Given the description of an element on the screen output the (x, y) to click on. 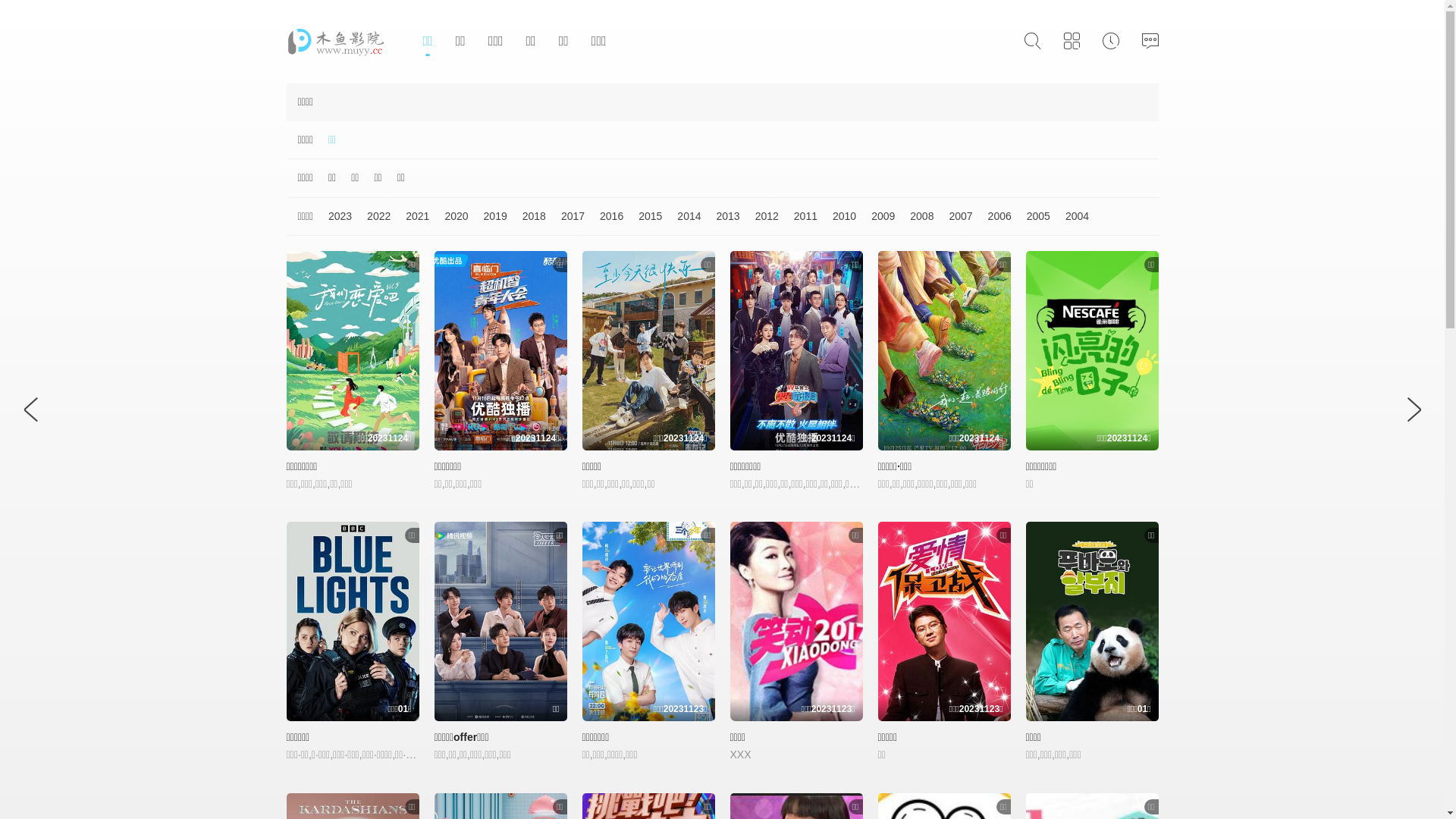
2022 Element type: text (370, 216)
2012 Element type: text (759, 216)
2014 Element type: text (681, 216)
2021 Element type: text (409, 216)
2018 Element type: text (526, 216)
2017 Element type: text (565, 216)
2008 Element type: text (913, 216)
2004 Element type: text (1069, 216)
2016 Element type: text (603, 216)
2011 Element type: text (797, 216)
2013 Element type: text (720, 216)
2015 Element type: text (642, 216)
2005 Element type: text (1030, 216)
2010 Element type: text (836, 216)
2019 Element type: text (487, 216)
2007 Element type: text (952, 216)
2023 Element type: text (332, 216)
2009 Element type: text (875, 216)
2006 Element type: text (991, 216)
2020 Element type: text (448, 216)
